Given the description of an element on the screen output the (x, y) to click on. 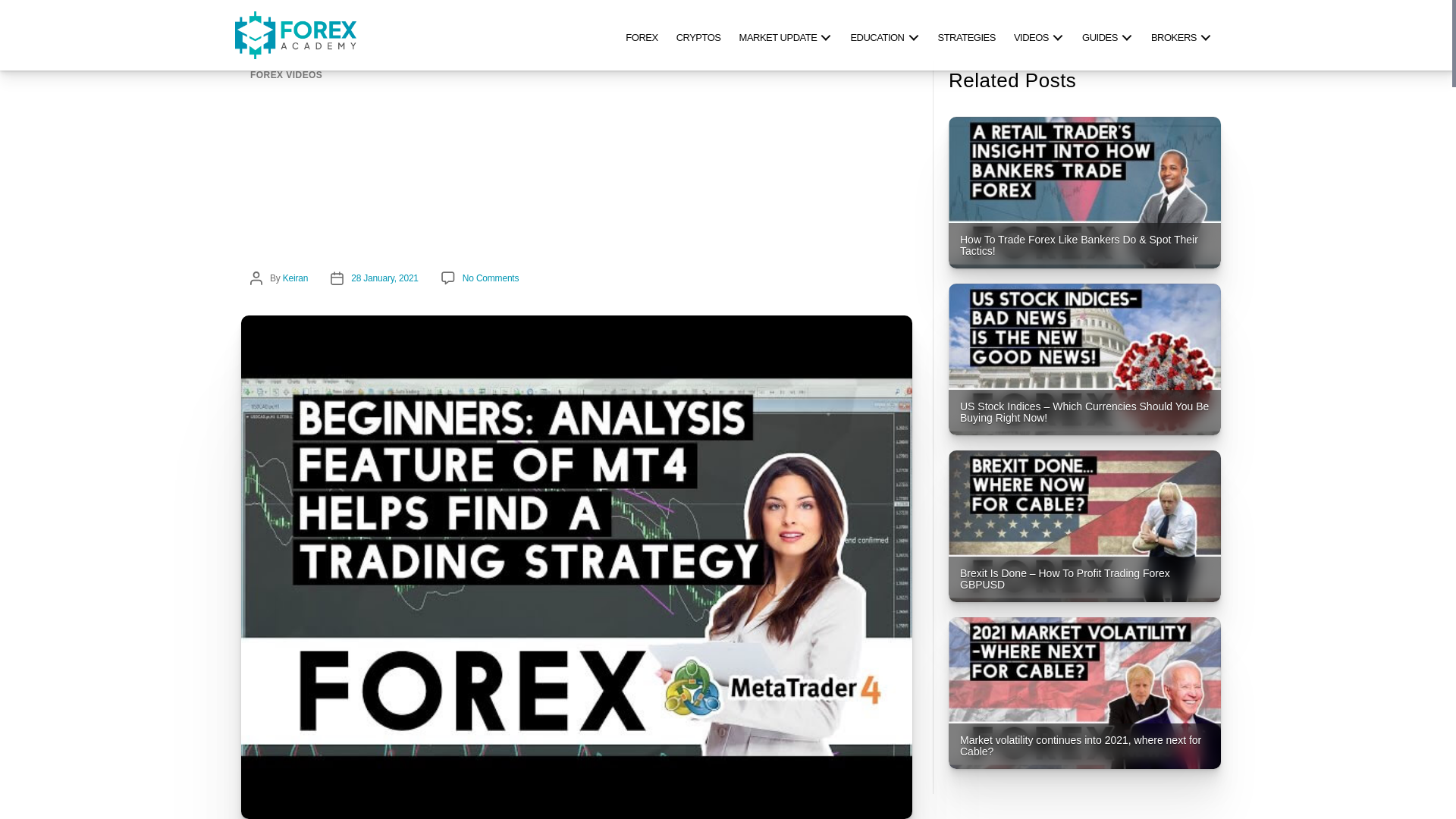
BROKERS (1181, 35)
MARKET UPDATE (785, 35)
STRATEGIES (966, 35)
GUIDES (1107, 35)
EDUCATION (884, 35)
VIDEOS (1038, 35)
Market volatility continues into 2021, where next for Cable? (1085, 693)
CRYPTOS (698, 35)
